Given the description of an element on the screen output the (x, y) to click on. 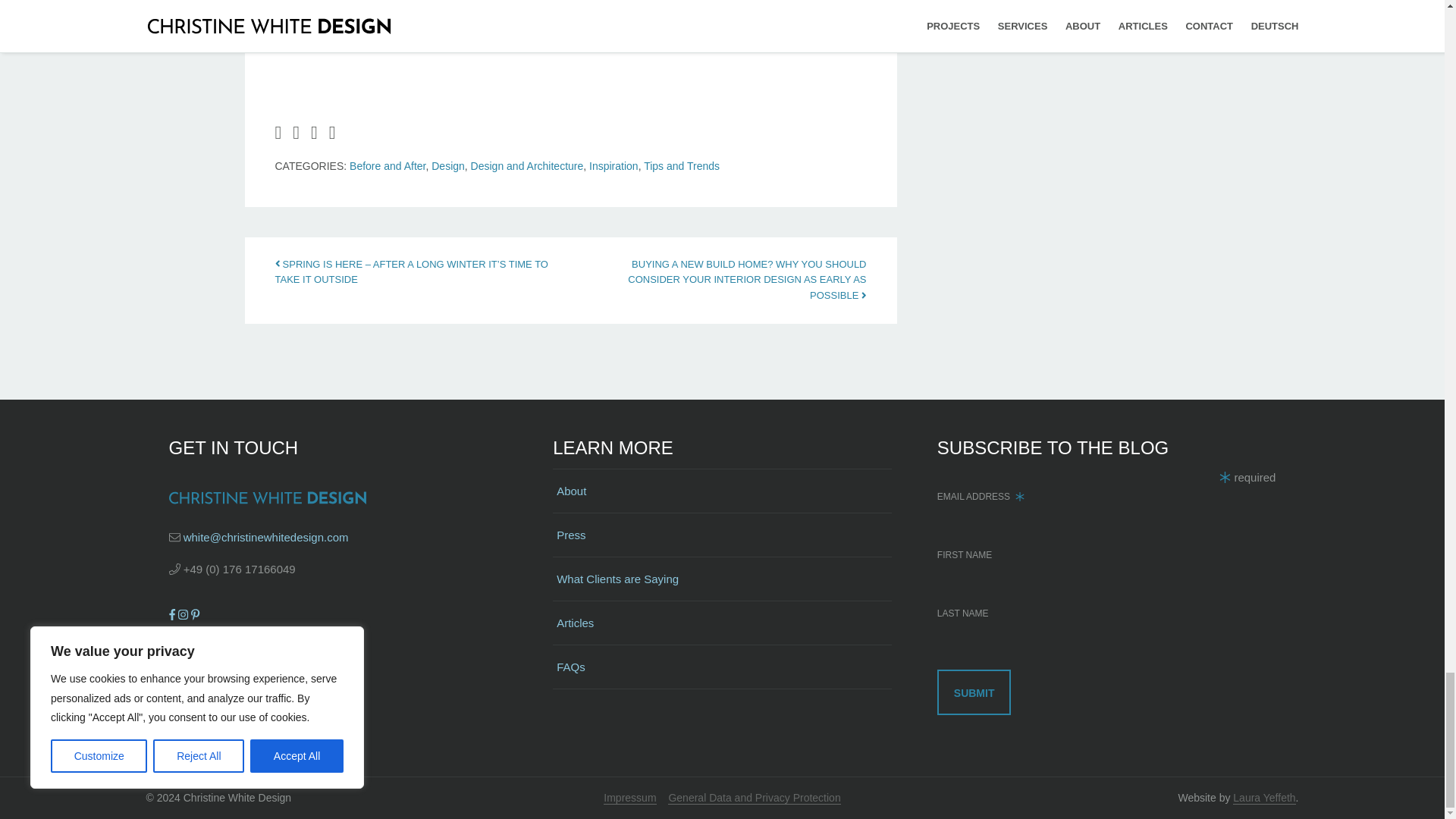
Before and After (387, 165)
Submit (974, 691)
Design (447, 165)
Tips and Trends (681, 165)
Design and Architecture (526, 165)
Inspiration (614, 165)
